Given the description of an element on the screen output the (x, y) to click on. 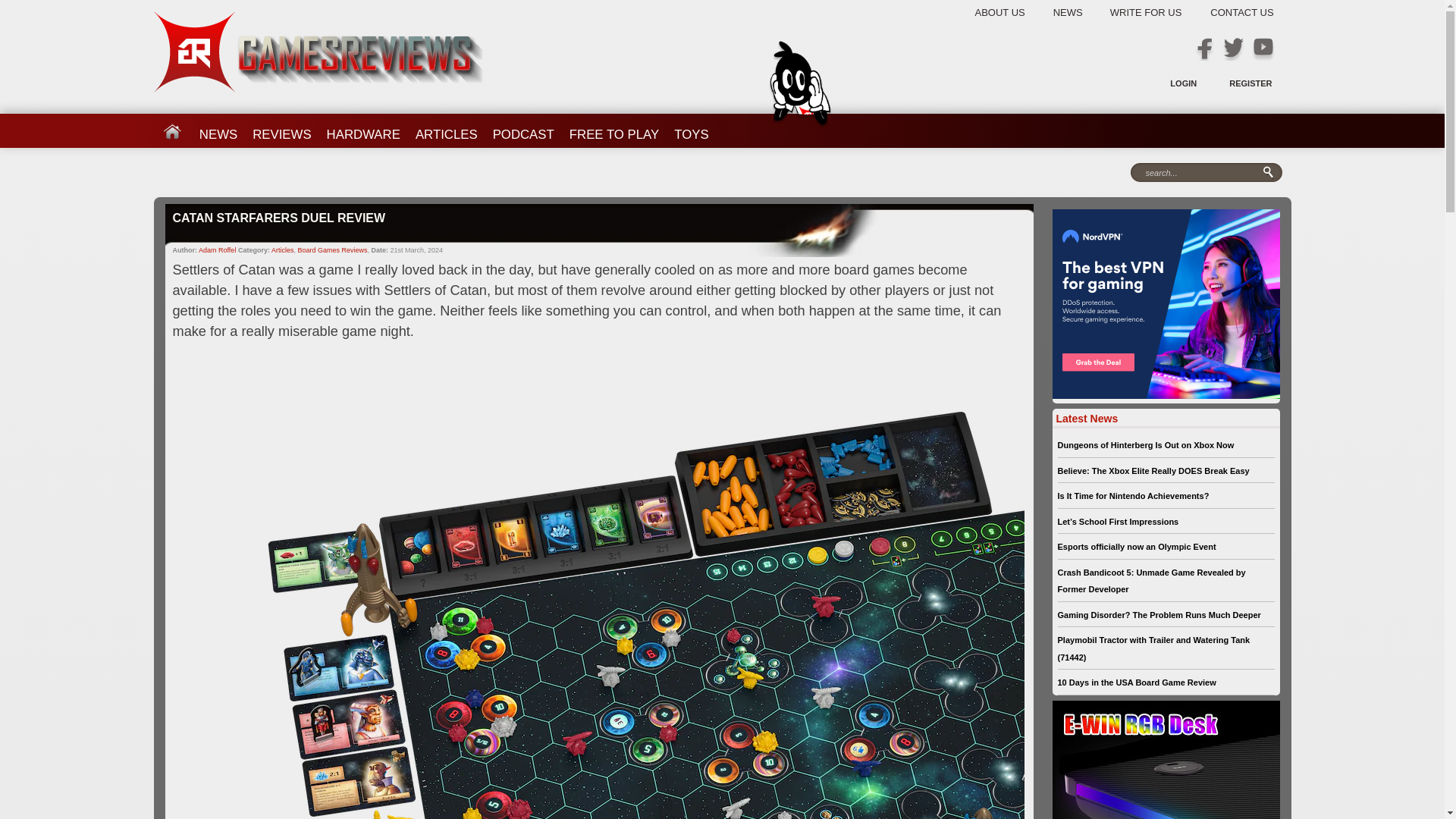
LOGIN (1183, 82)
search... (1201, 173)
We use NordVPN (1165, 303)
REGISTER (1249, 82)
Follow Us On Youtube (1262, 48)
NEWS (1079, 12)
Follow Us On Twitter (1233, 48)
Posts by Adam Roffel (216, 249)
Games Reviews (316, 51)
search... (1201, 173)
HARDWARE (362, 128)
HOME (171, 128)
PODCAST (523, 128)
REVIEWS (281, 128)
CONTACT US (1239, 12)
